Given the description of an element on the screen output the (x, y) to click on. 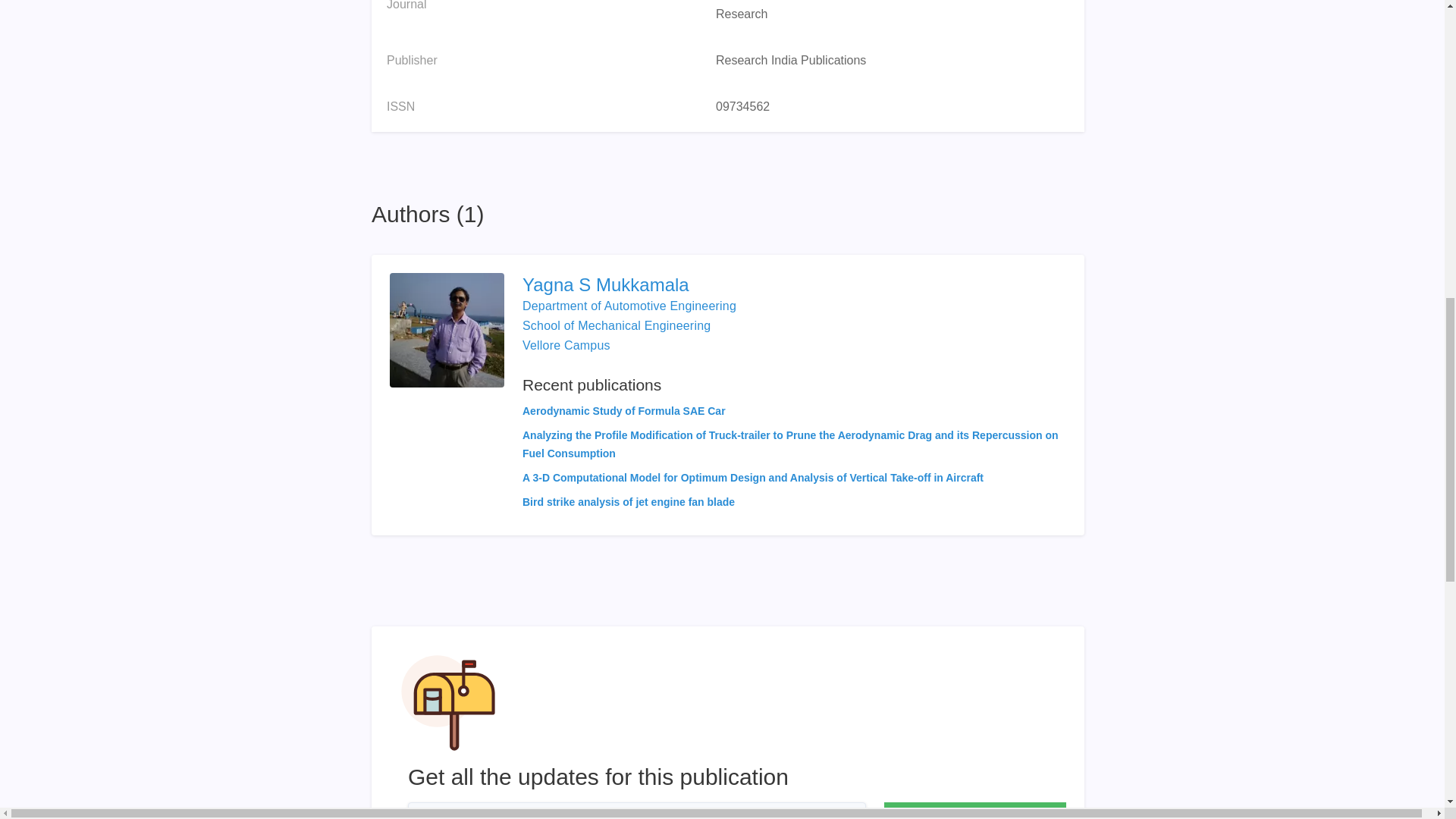
Bird strike analysis of jet engine fan blade (628, 501)
Subscribe form hero illustration (448, 702)
Yagna S Mukkamala (793, 284)
Aerodynamic Study of Formula SAE Car (623, 410)
Department of Automotive Engineering (629, 305)
School of Mechanical Engineering (616, 325)
Vellore Campus (566, 345)
FOLLOW (974, 810)
